Given the description of an element on the screen output the (x, y) to click on. 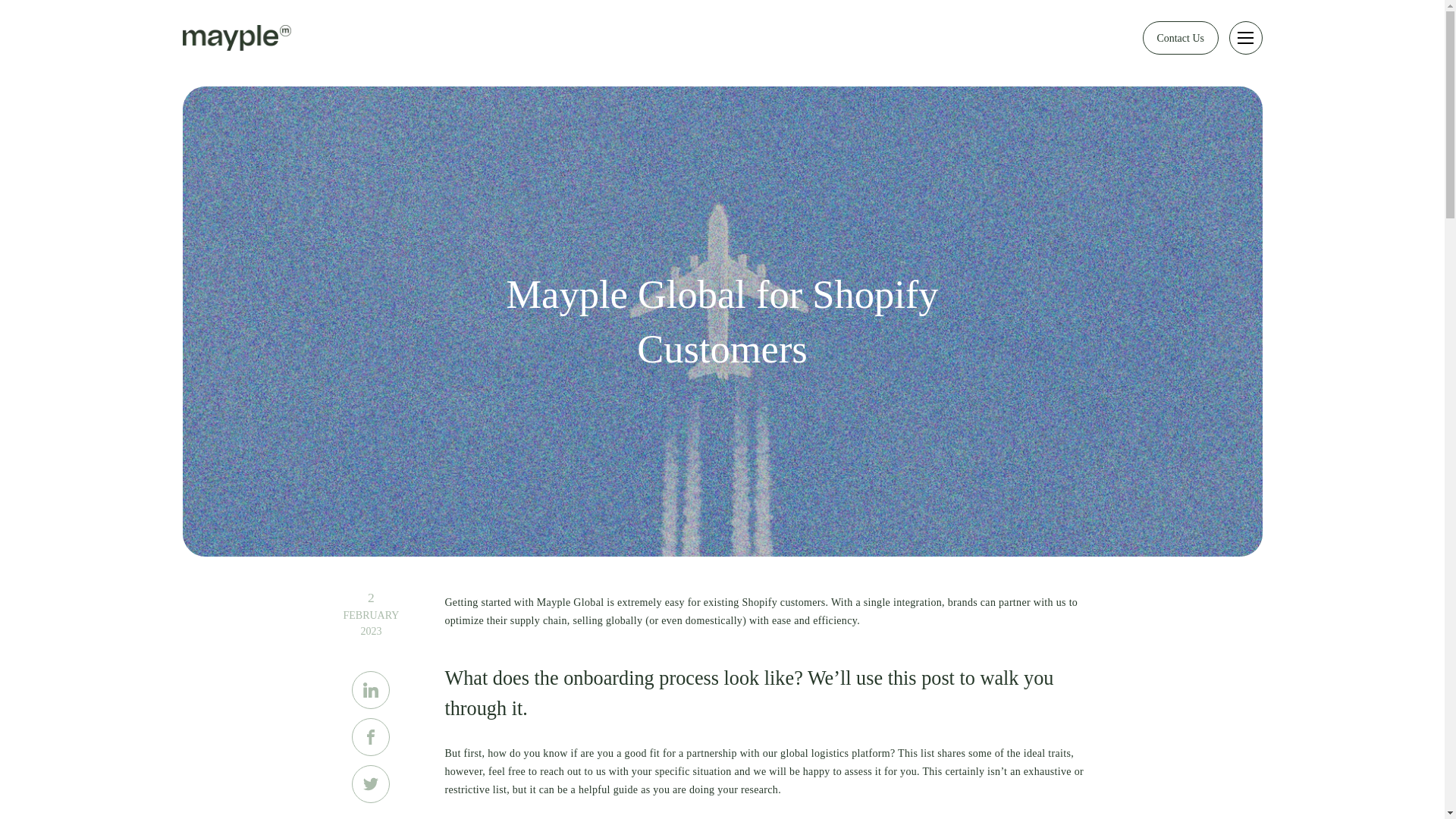
Contact Us (1180, 37)
